Given the description of an element on the screen output the (x, y) to click on. 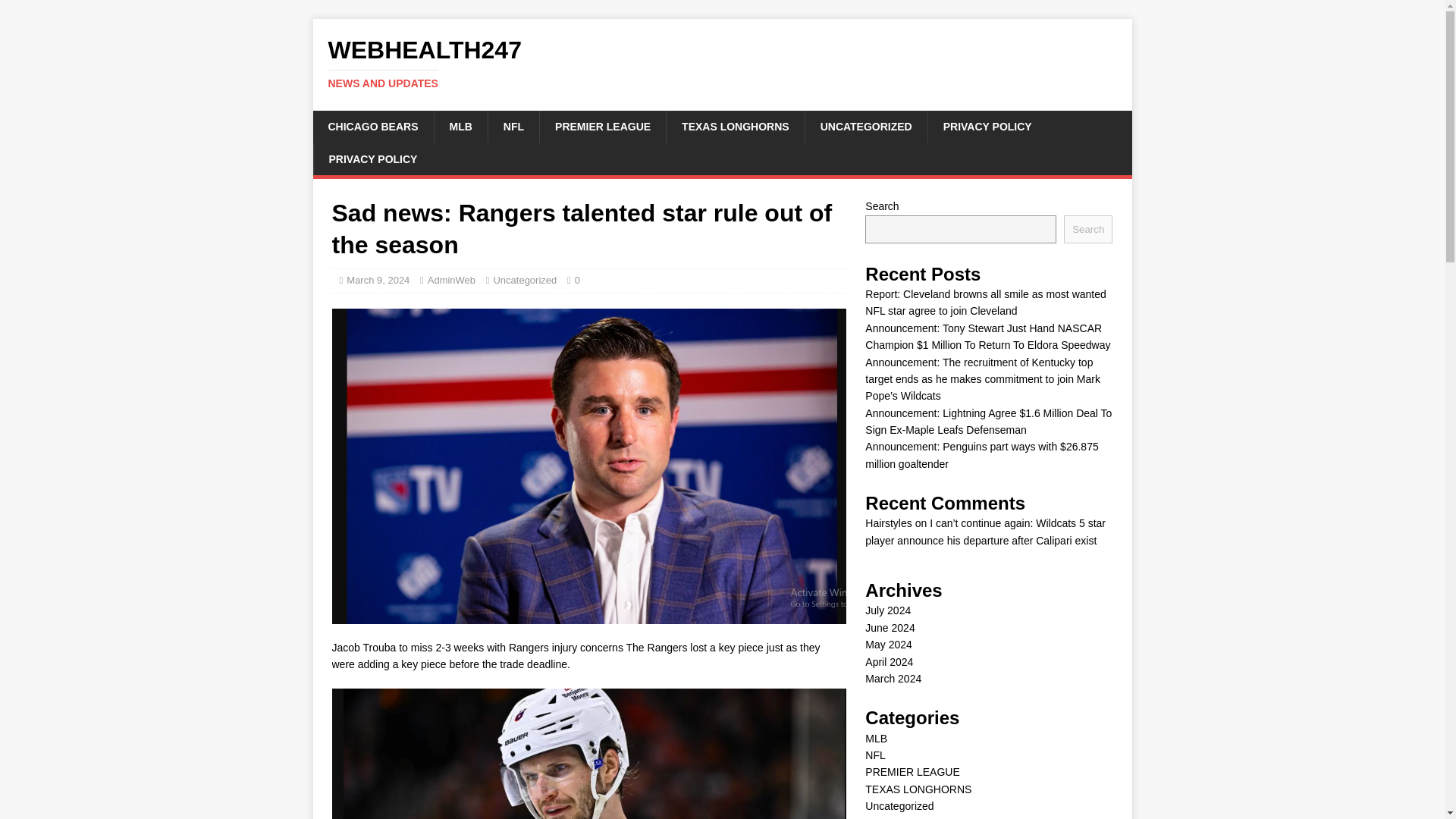
webhealth247 (721, 63)
NFL (512, 126)
PRIVACY POLICY (372, 159)
Uncategorized (524, 279)
PRIVACY POLICY (986, 126)
MLB (460, 126)
TEXAS LONGHORNS (735, 126)
UNCATEGORIZED (721, 63)
March 9, 2024 (866, 126)
CHICAGO BEARS (377, 279)
Search (372, 126)
AdminWeb (1088, 229)
